Given the description of an element on the screen output the (x, y) to click on. 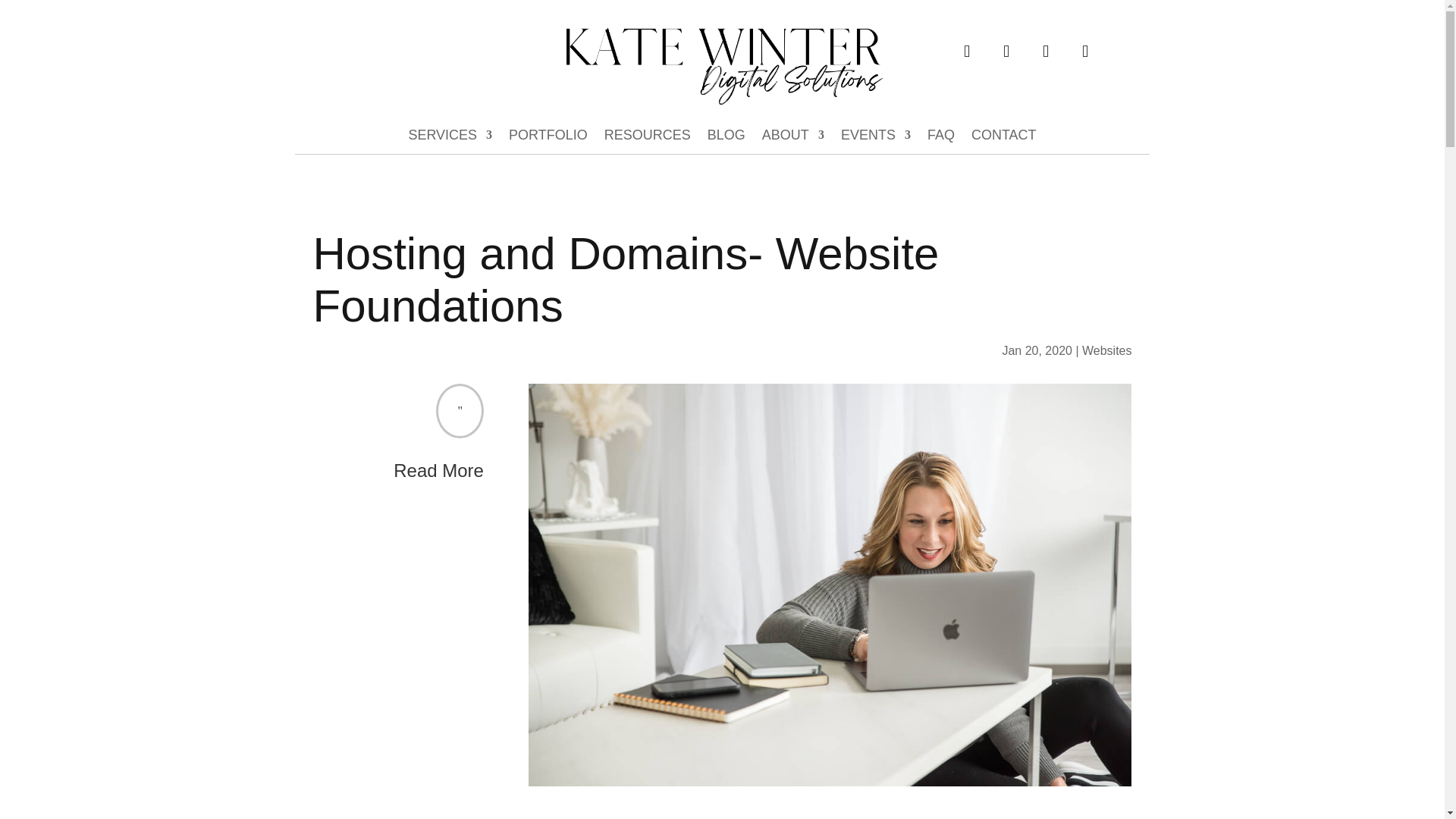
FAQ (941, 137)
CONTACT (1003, 137)
PORTFOLIO (548, 137)
Follow on Facebook (1006, 51)
BLOG (726, 137)
SERVICES (449, 137)
Follow on LinkedIn (967, 51)
EVENTS (876, 137)
ABOUT (792, 137)
